Given the description of an element on the screen output the (x, y) to click on. 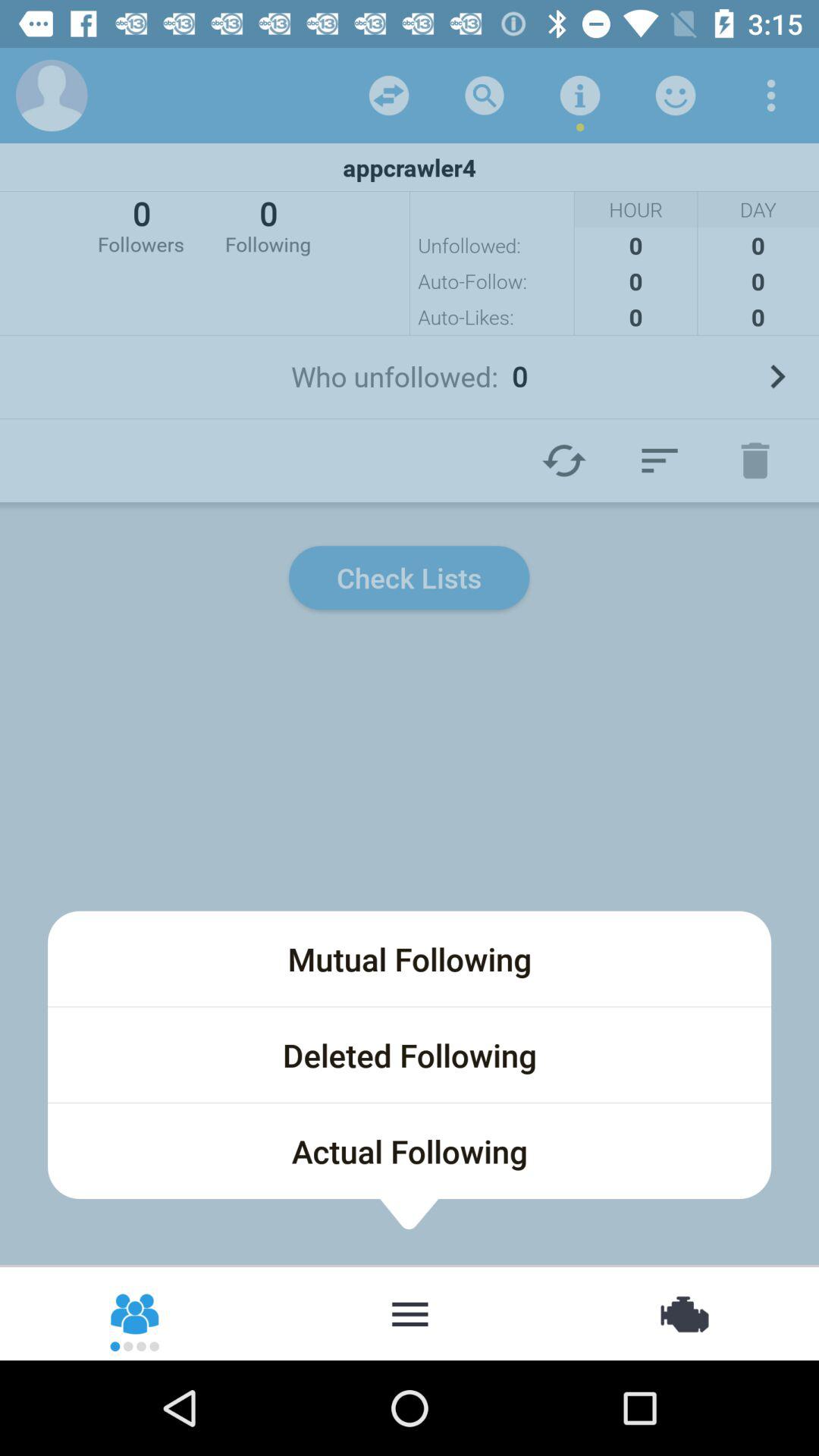
instructions (579, 95)
